Given the description of an element on the screen output the (x, y) to click on. 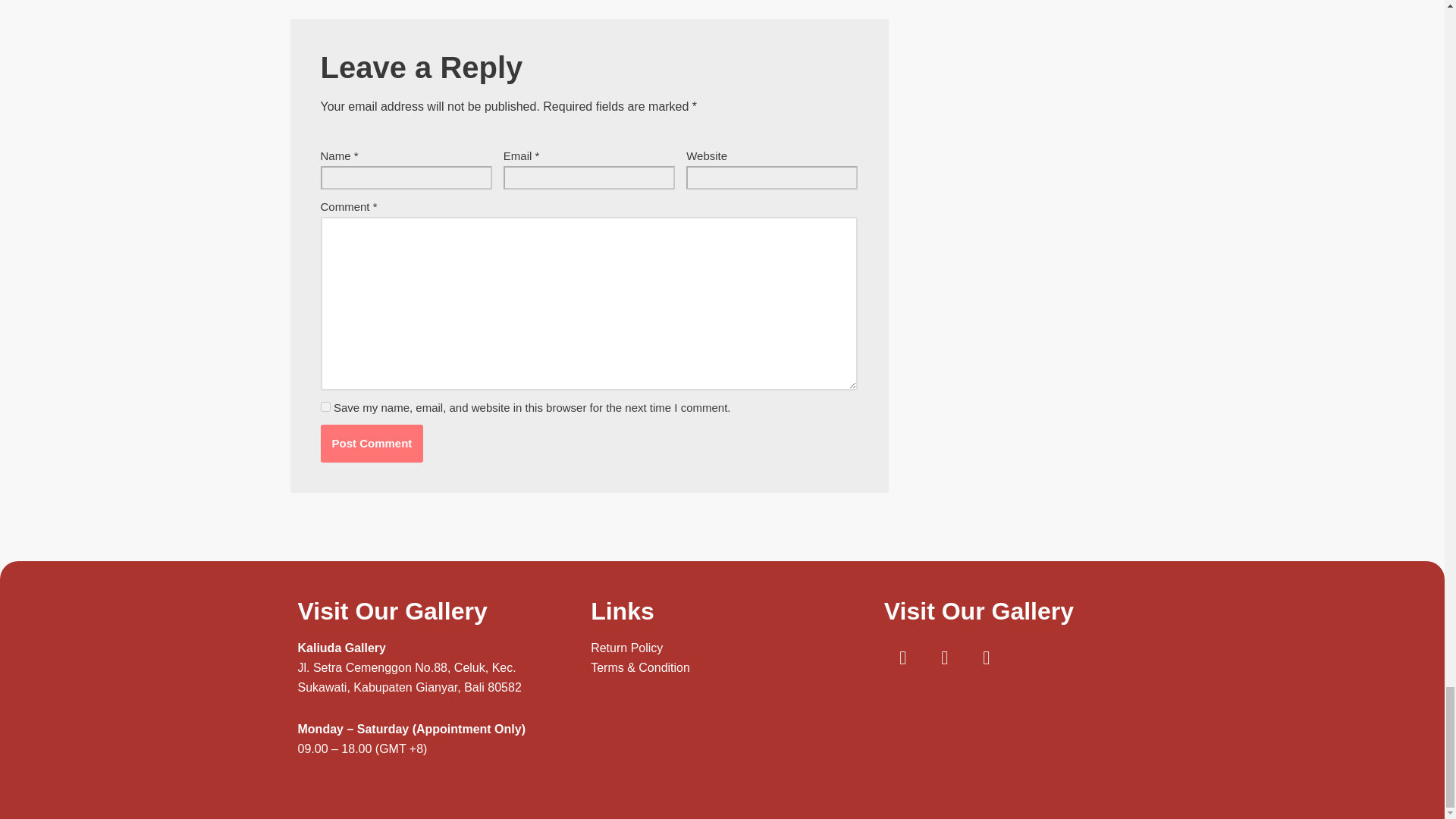
yes (325, 406)
Post Comment (371, 443)
Post Comment (371, 443)
